Given the description of an element on the screen output the (x, y) to click on. 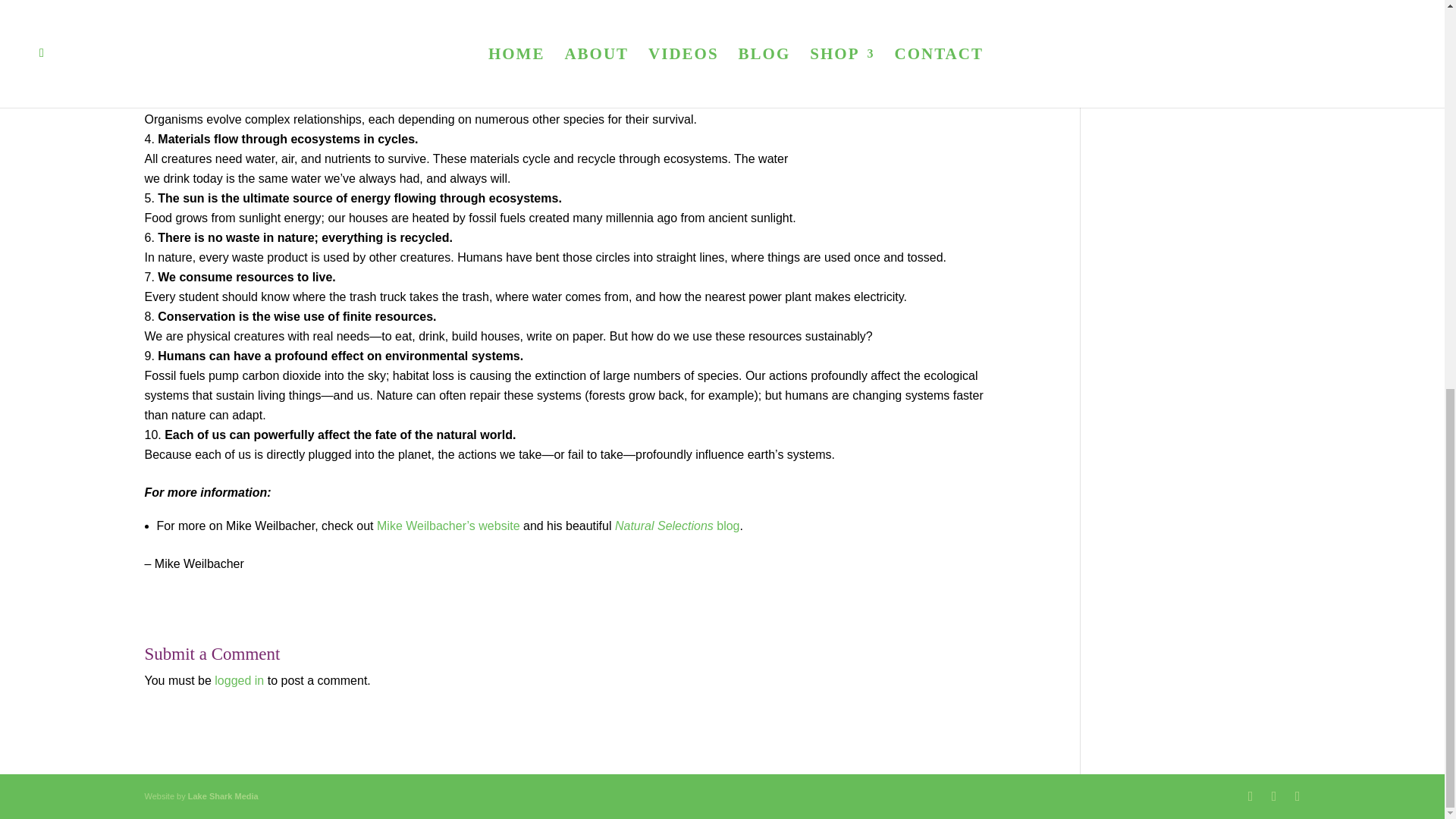
Lake Shark Media (223, 795)
Natural Selections blog (676, 525)
logged in (238, 680)
